Given the description of an element on the screen output the (x, y) to click on. 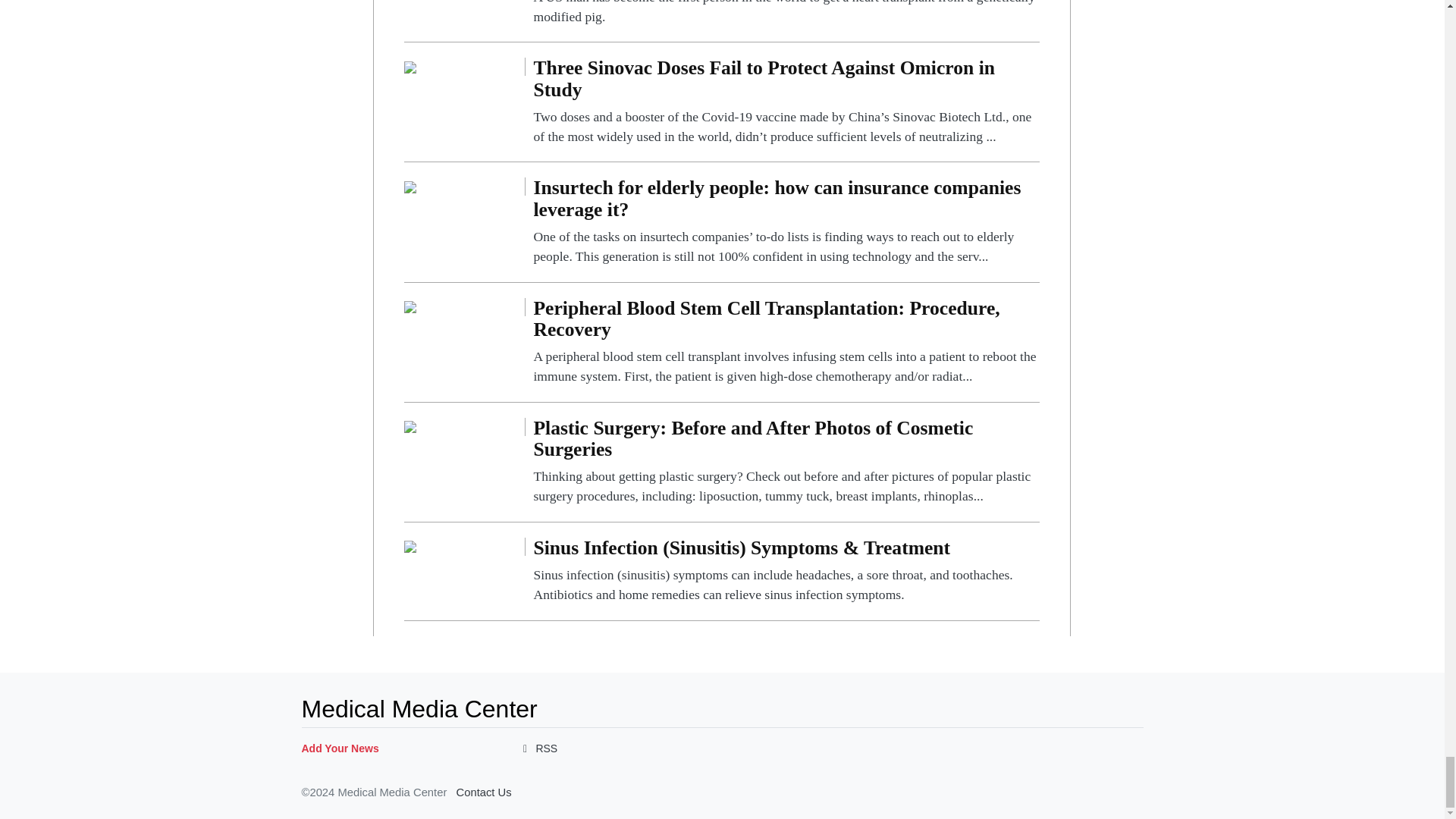
Add Your News (339, 748)
Three Sinovac Doses Fail to Protect Against Omicron in Study (785, 101)
RSS (536, 748)
Contact Us (483, 791)
Three Sinovac Doses Fail to Protect Against Omicron in Study (410, 65)
